Given the description of an element on the screen output the (x, y) to click on. 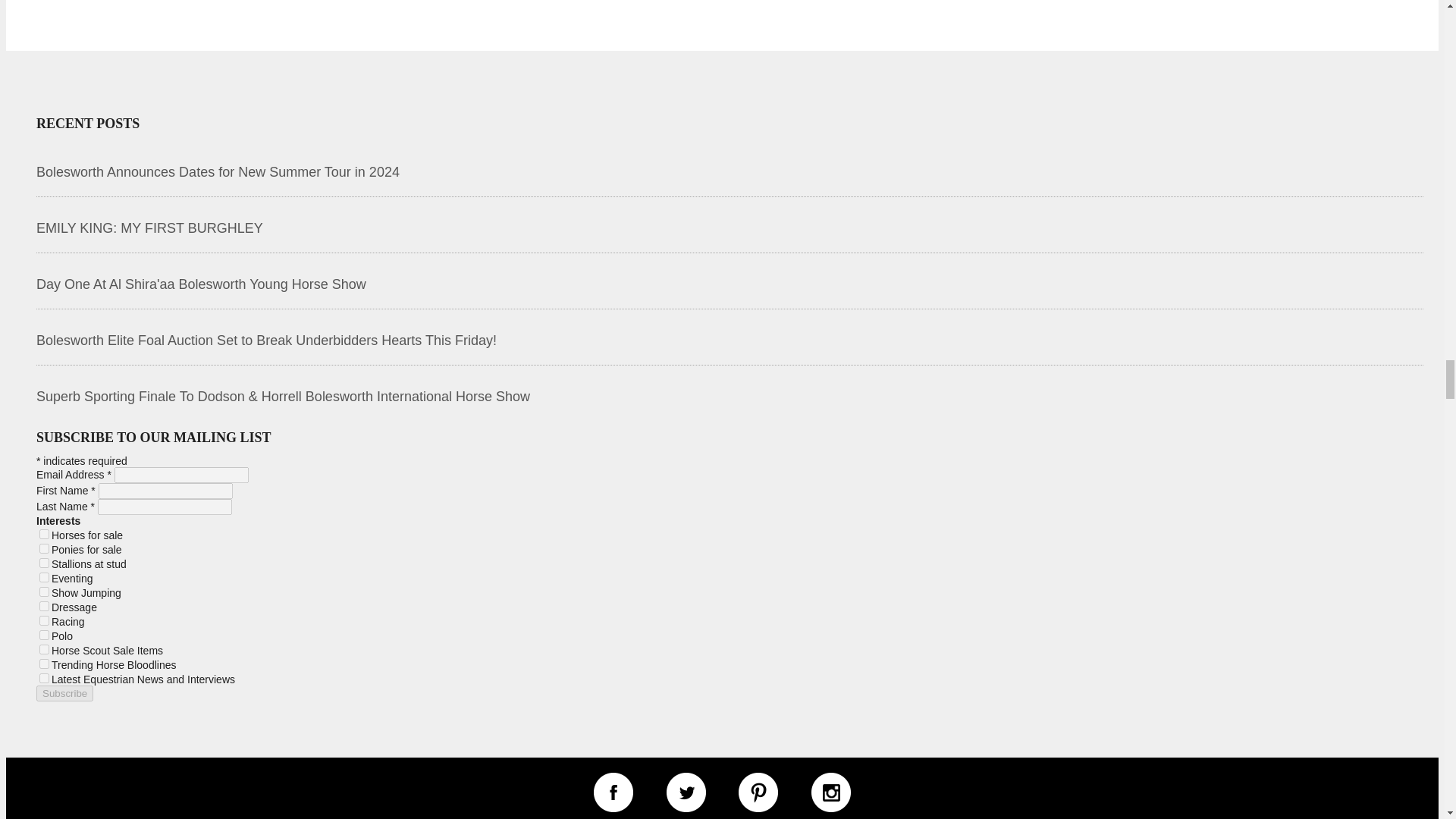
4 (44, 562)
256 (44, 649)
64 (44, 620)
128 (44, 634)
8 (44, 577)
16 (44, 592)
1024 (44, 678)
Subscribe (64, 693)
2 (44, 548)
512 (44, 664)
1 (44, 533)
32 (44, 605)
